Given the description of an element on the screen output the (x, y) to click on. 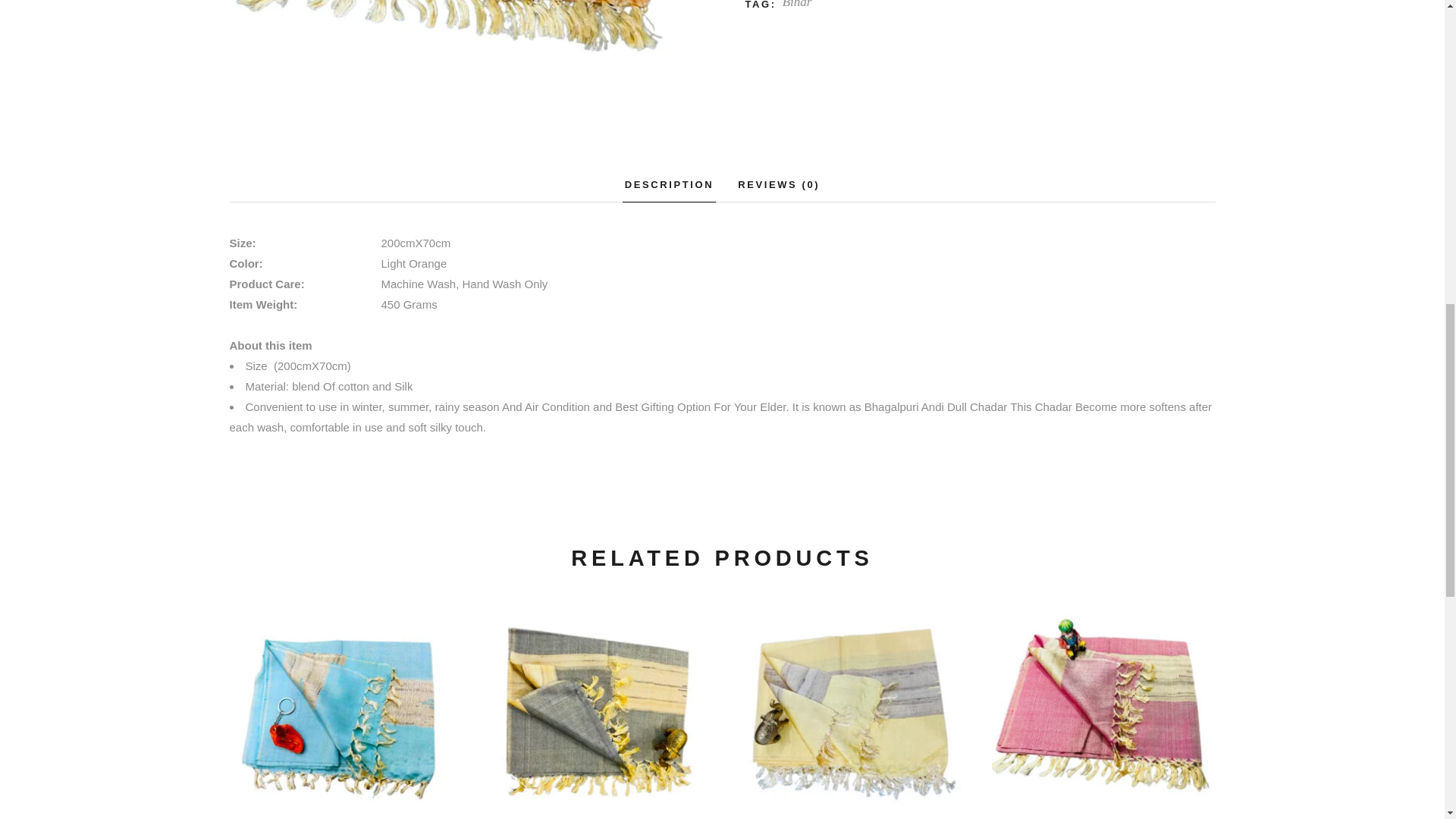
New 7 (456, 53)
